Given the description of an element on the screen output the (x, y) to click on. 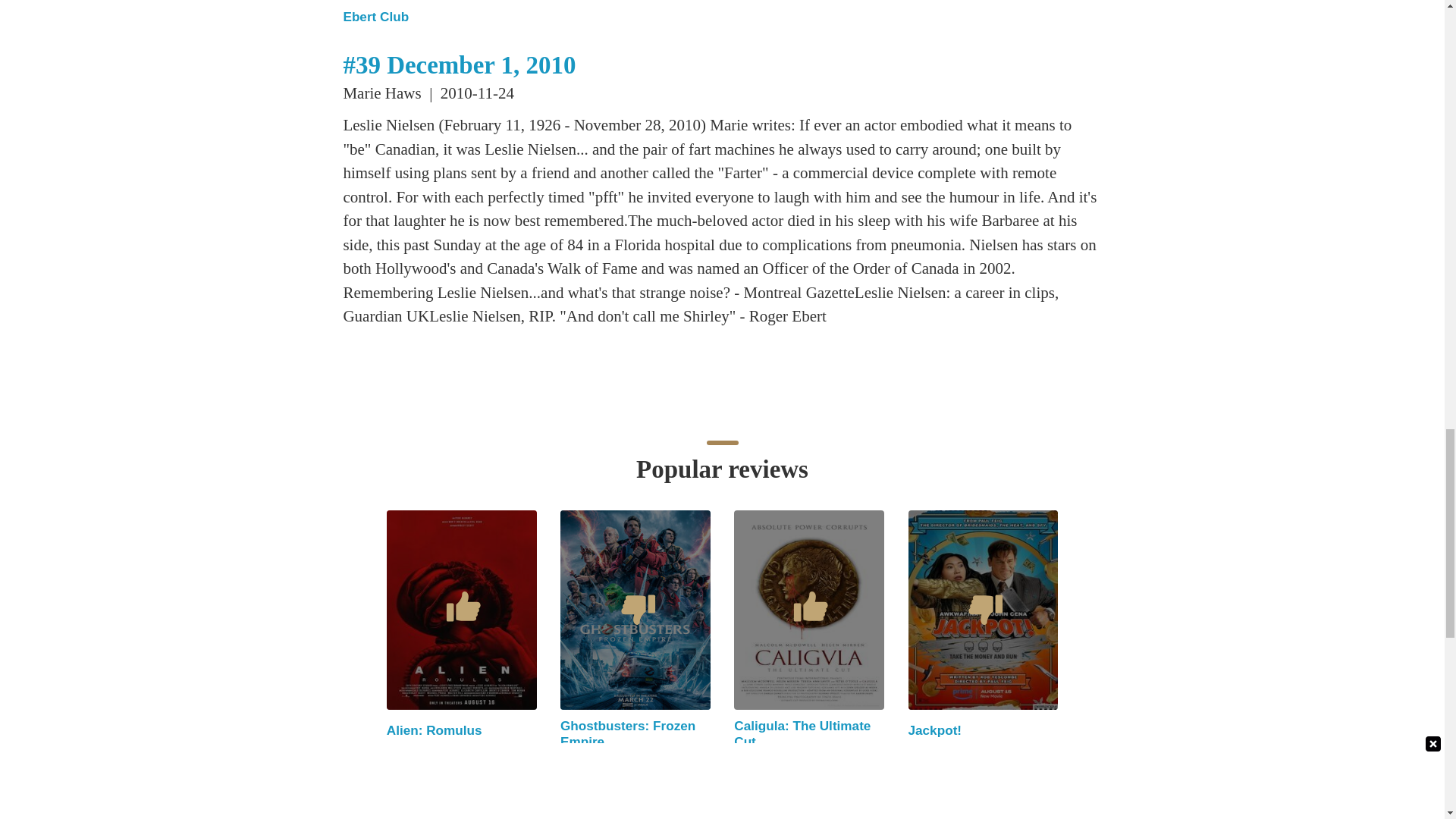
star-full (408, 777)
star-full (756, 788)
star-full (582, 788)
Ghostbusters: Frozen Empire (627, 733)
Caligula: The Ultimate Cut (801, 733)
Alien: Romulus (434, 729)
star-full (392, 777)
star-full (424, 777)
star-full (739, 788)
star-full (566, 788)
